Given the description of an element on the screen output the (x, y) to click on. 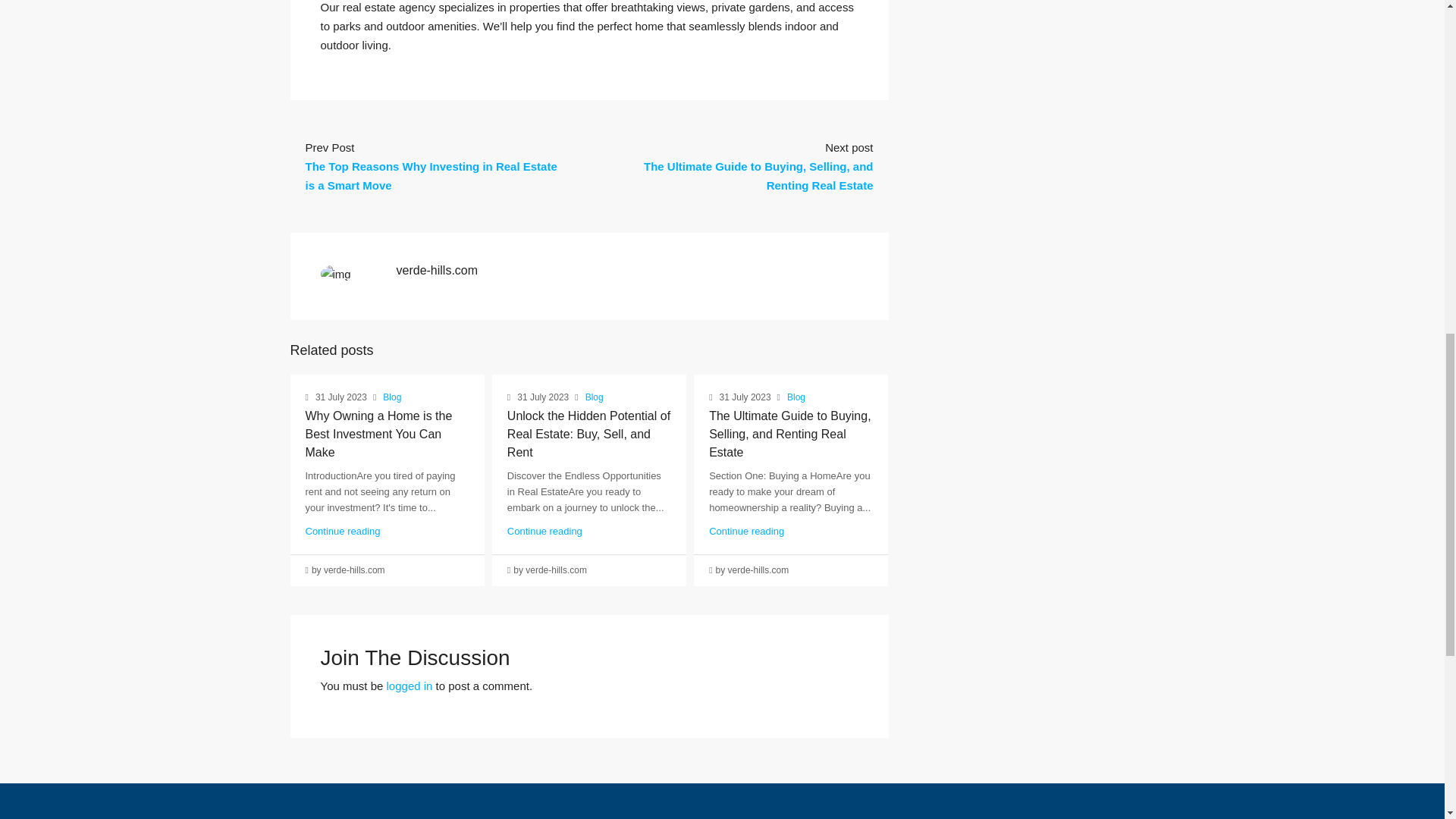
Blog (594, 397)
Continue reading (746, 531)
Continue reading (544, 531)
Continue reading (342, 531)
Blog (796, 397)
logged in (409, 685)
The Top Reasons Why Investing in Real Estate is a Smart Move (430, 175)
Why Owning a Home is the Best Investment You Can Make (377, 433)
Blog (391, 397)
